Given the description of an element on the screen output the (x, y) to click on. 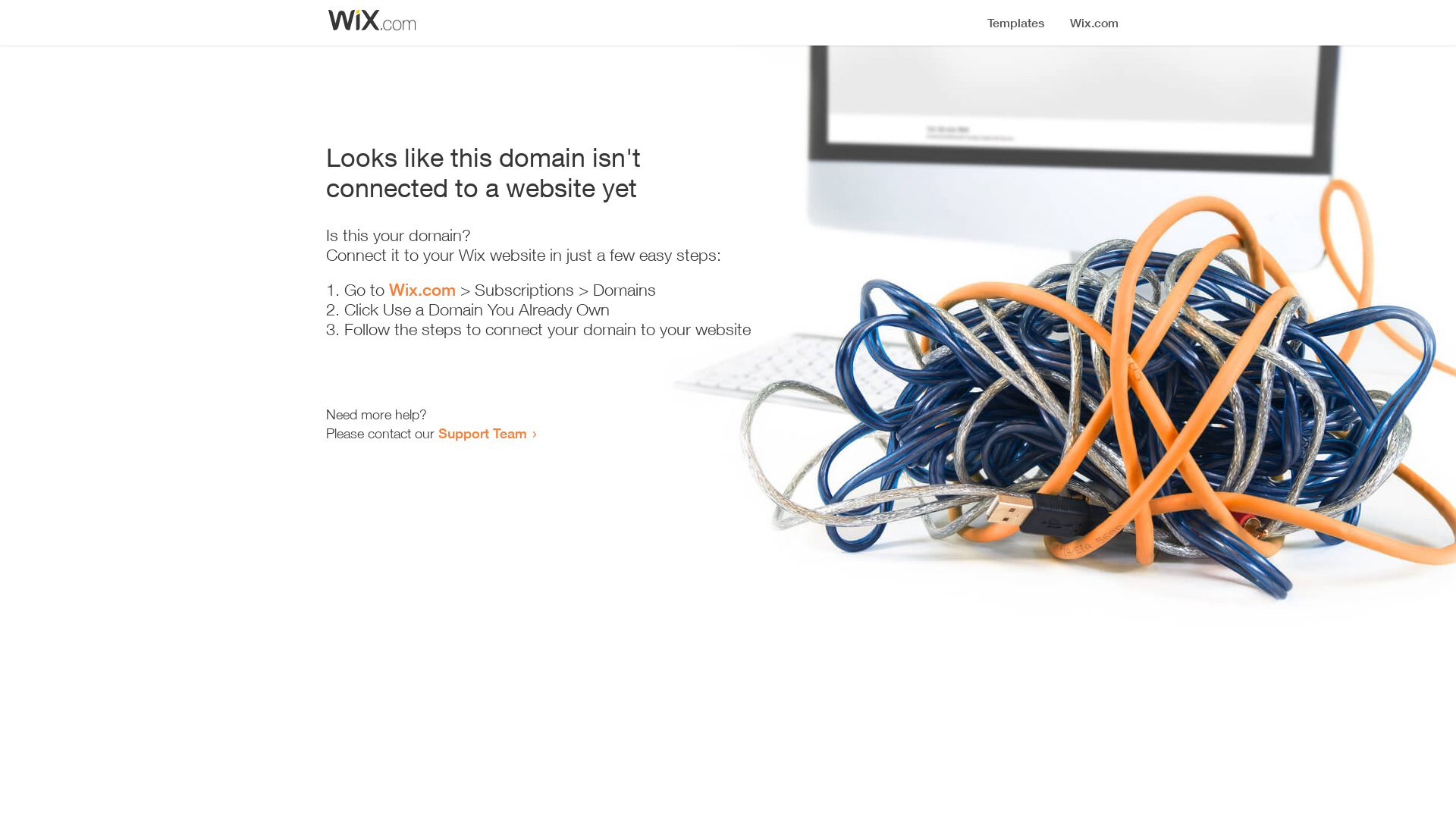
Wix.com Element type: text (422, 289)
Support Team Element type: text (482, 432)
